Given the description of an element on the screen output the (x, y) to click on. 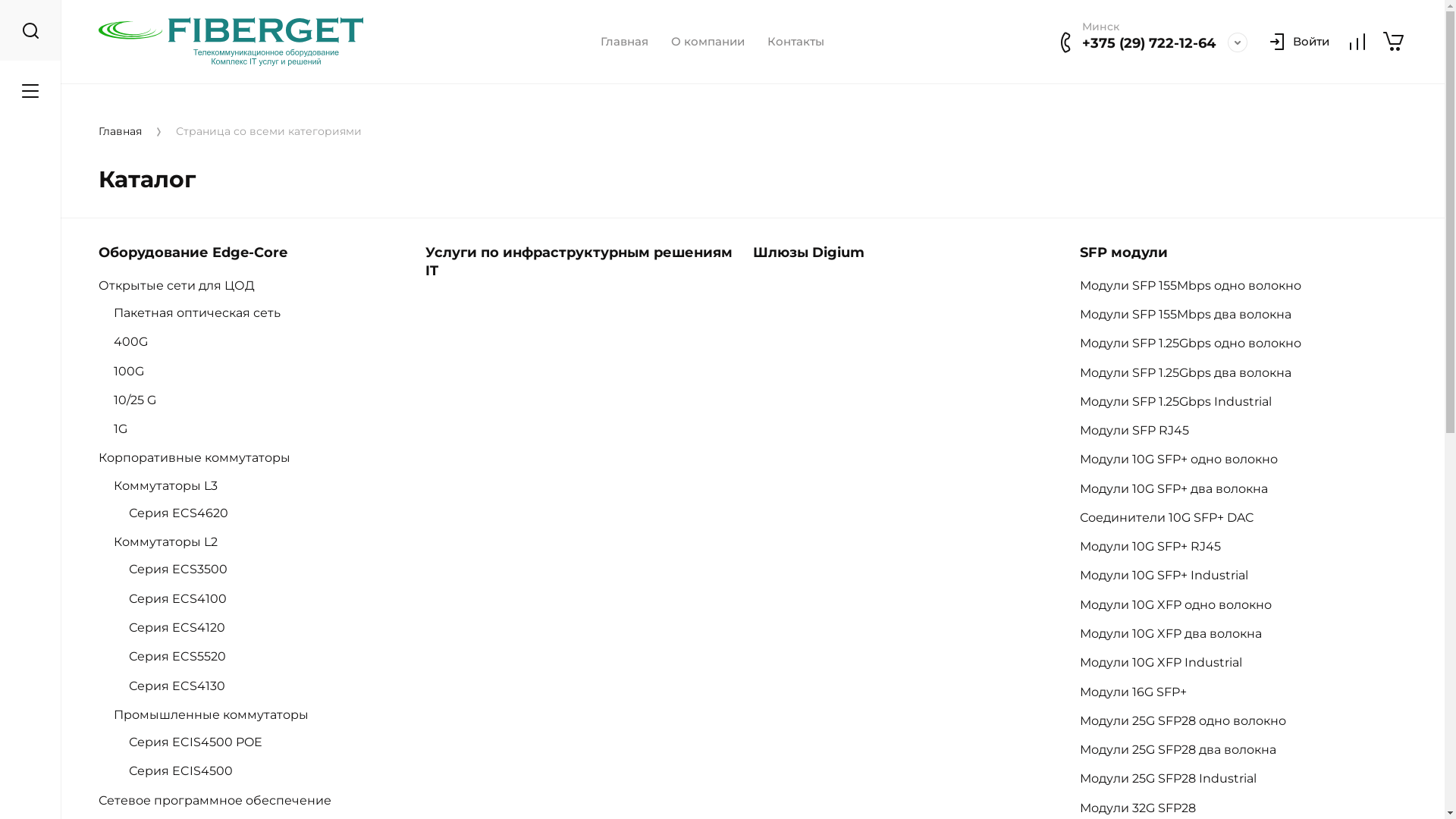
10/25 G Element type: text (142, 399)
+375 (29) 722-12-64 Element type: text (1148, 42)
100G Element type: text (136, 370)
400G Element type: text (138, 341)
1G Element type: text (127, 428)
